Given the description of an element on the screen output the (x, y) to click on. 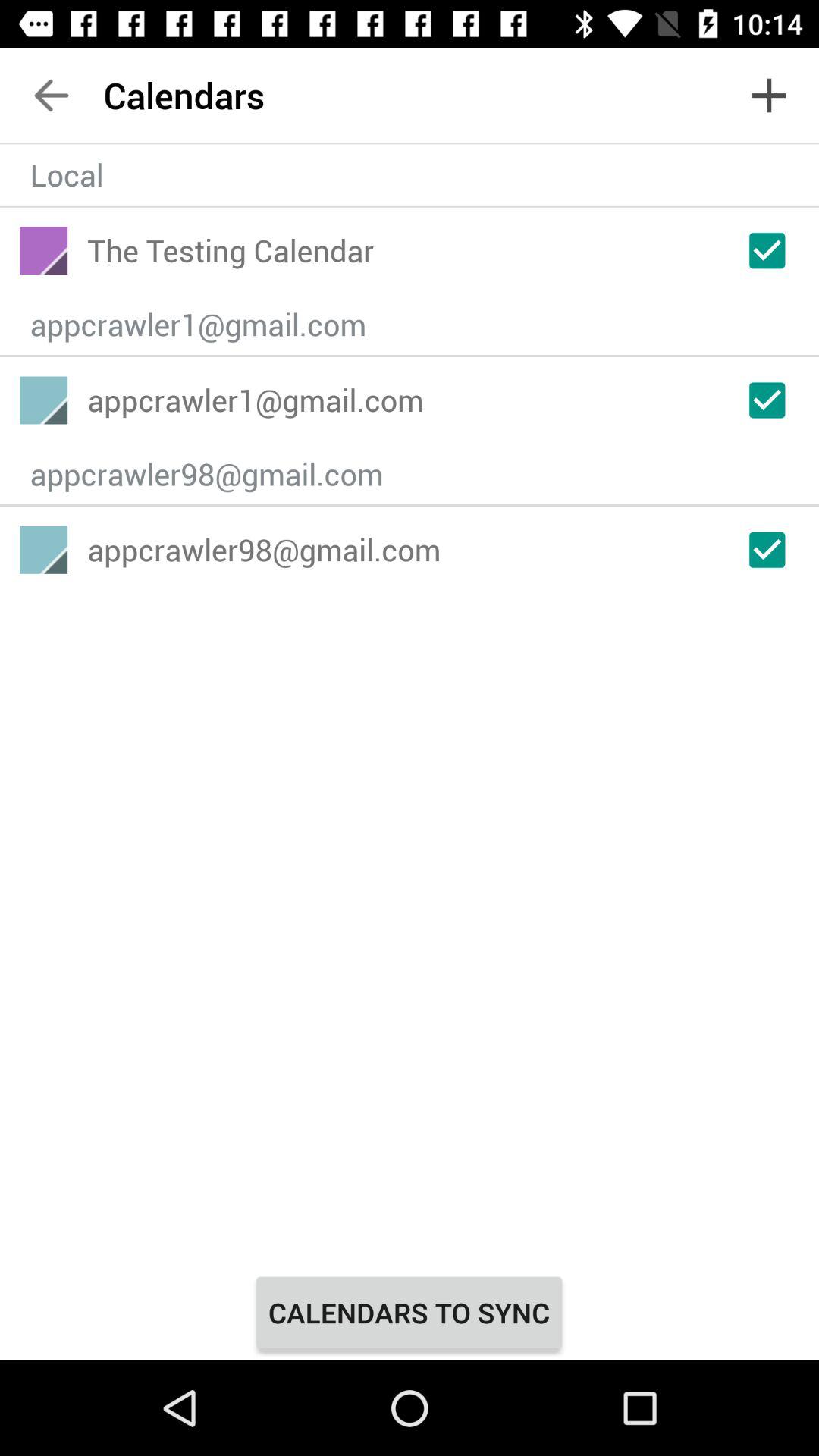
press the calendars to sync (408, 1312)
